Given the description of an element on the screen output the (x, y) to click on. 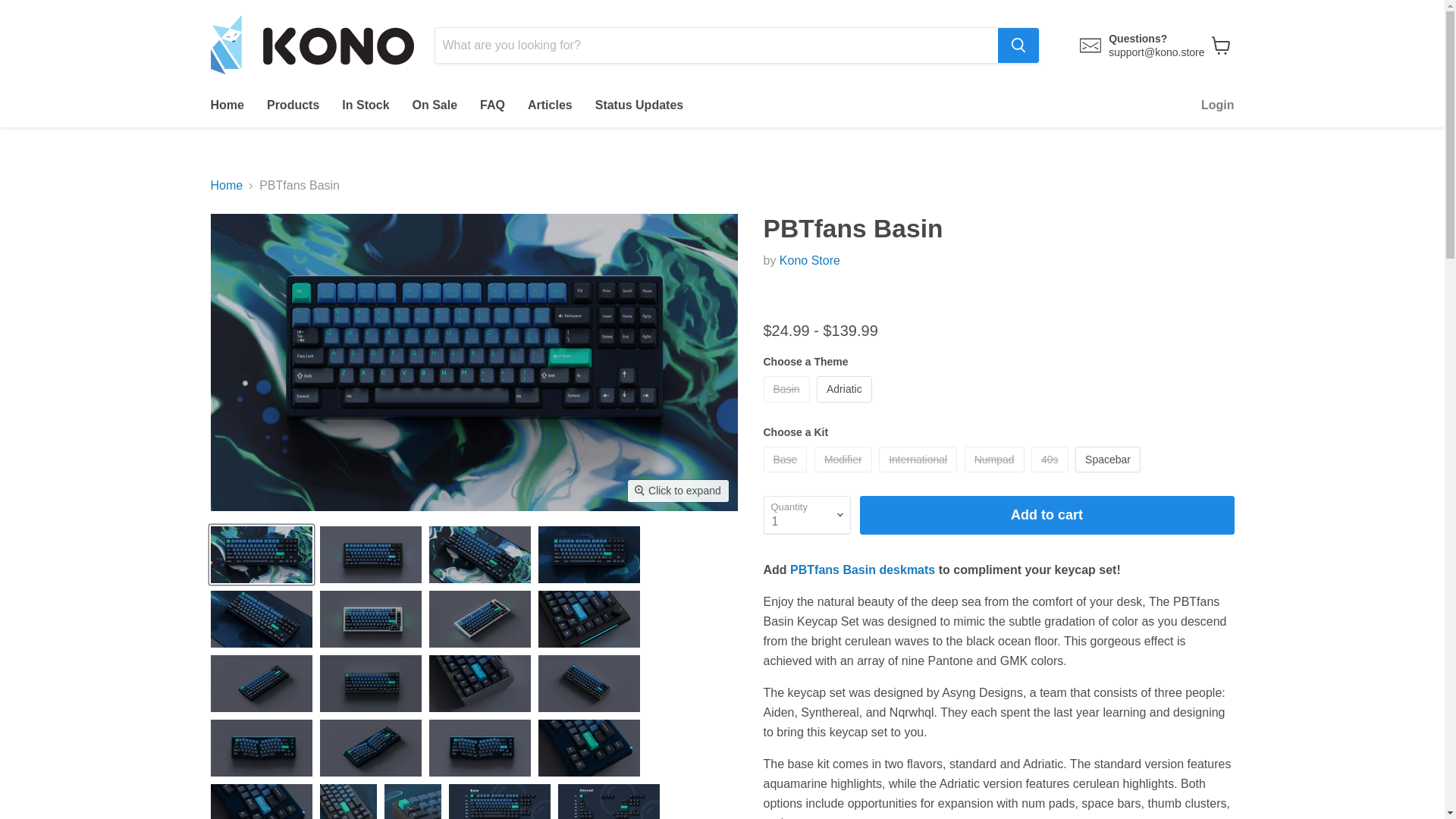
Articles (549, 105)
Products (293, 105)
View cart (1221, 45)
Status Updates (638, 105)
Login (1217, 105)
FAQ (492, 105)
Click to expand (678, 490)
In Stock (365, 105)
Kono Store (809, 259)
On Sale (434, 105)
Home (226, 105)
Home (227, 185)
